Given the description of an element on the screen output the (x, y) to click on. 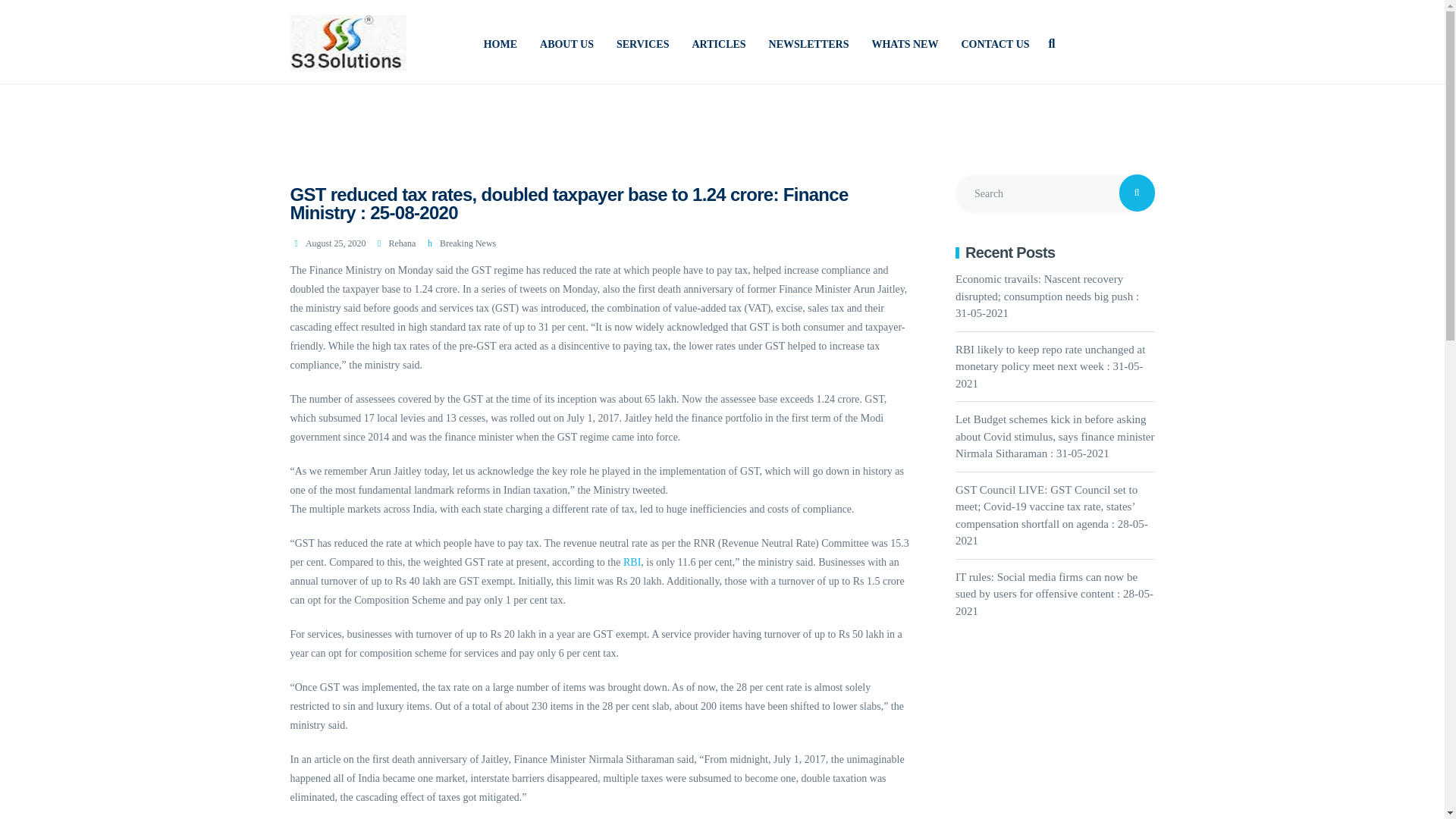
NEWSLETTERS (808, 44)
ARTICLES (719, 44)
S3 solutions (499, 44)
WHATS NEW (904, 44)
HOME (499, 44)
SERVICES (643, 44)
ABOUT US (566, 44)
